Given the description of an element on the screen output the (x, y) to click on. 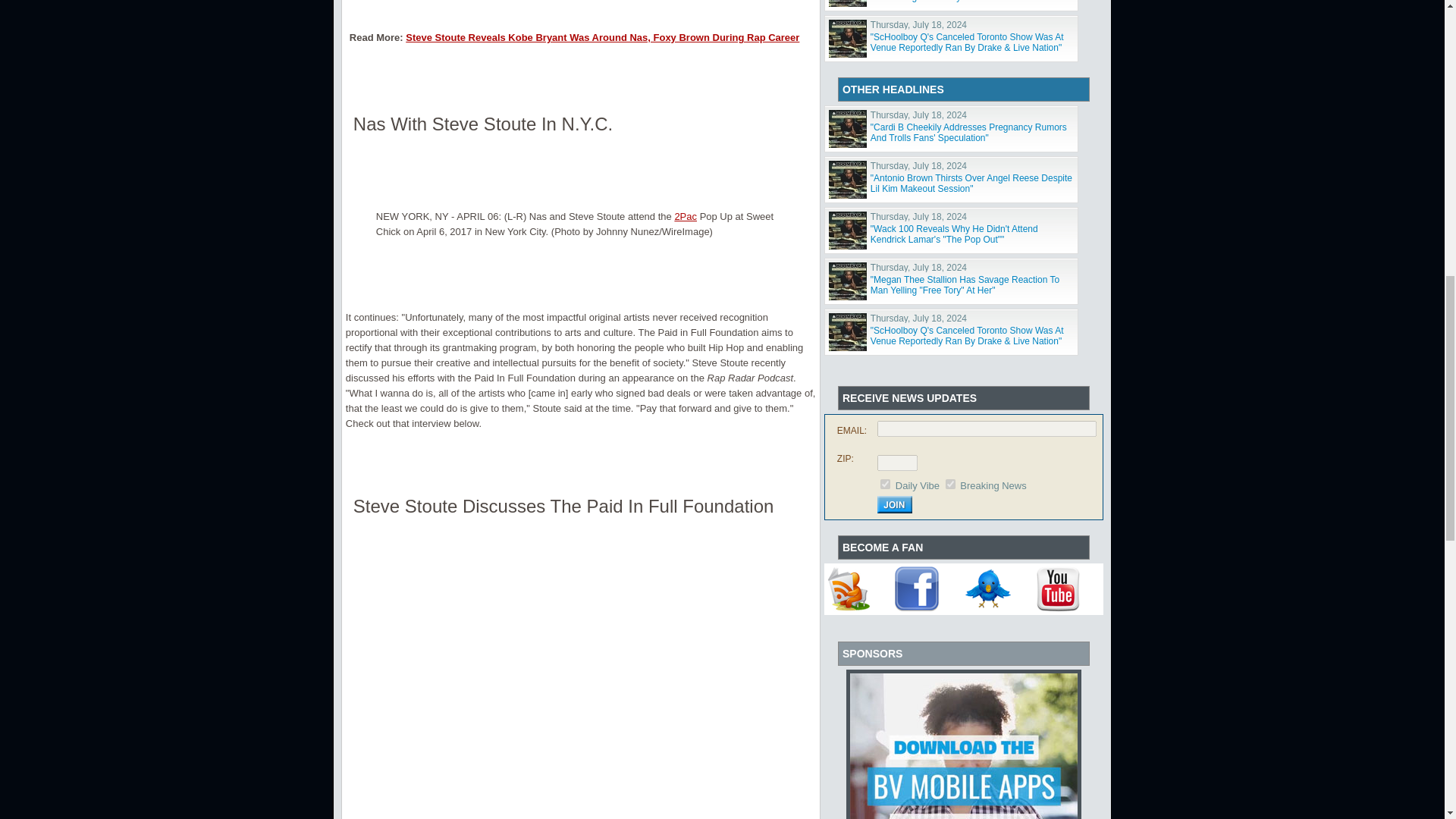
2 (949, 483)
1 (884, 483)
2Pac (685, 215)
